Given the description of an element on the screen output the (x, y) to click on. 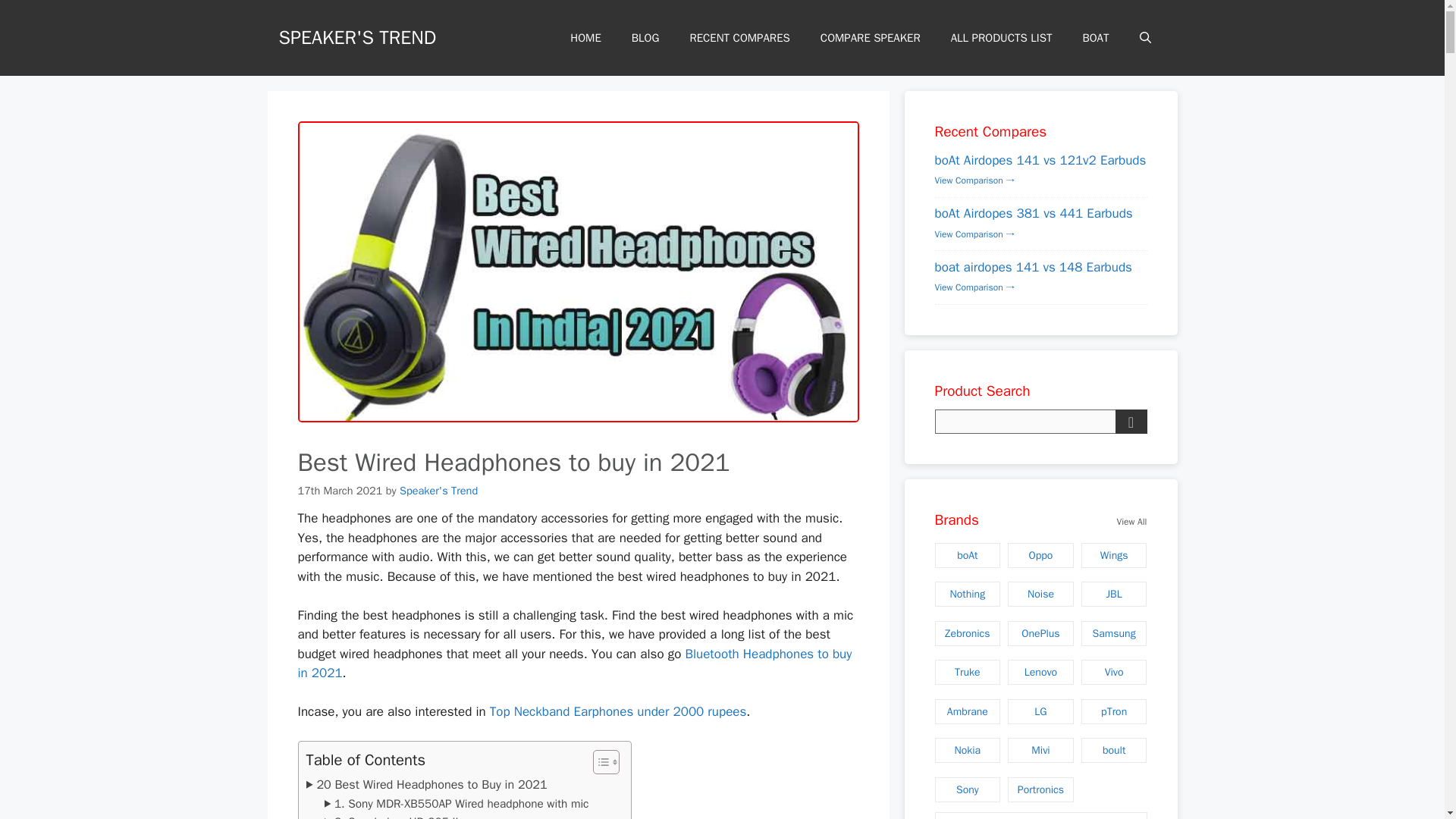
ALL PRODUCTS LIST (1001, 37)
Top Neckband Earphones under 2000 rupees (617, 711)
RECENT COMPARES (739, 37)
SPEAKER'S TREND (357, 37)
2. Sennheiser HD 205 II (391, 816)
1. Sony MDR-XB550AP Wired headphone with mic (456, 804)
BOAT (1095, 37)
HOME (584, 37)
20 Best Wired Headphones to Buy in 2021 (426, 784)
2. Sennheiser HD 205 II (391, 816)
BLOG (645, 37)
Bluetooth Headphones to buy in 2021 (574, 663)
Speaker's Trend (437, 490)
View all posts by Speaker's Trend (437, 490)
COMPARE SPEAKER (870, 37)
